Given the description of an element on the screen output the (x, y) to click on. 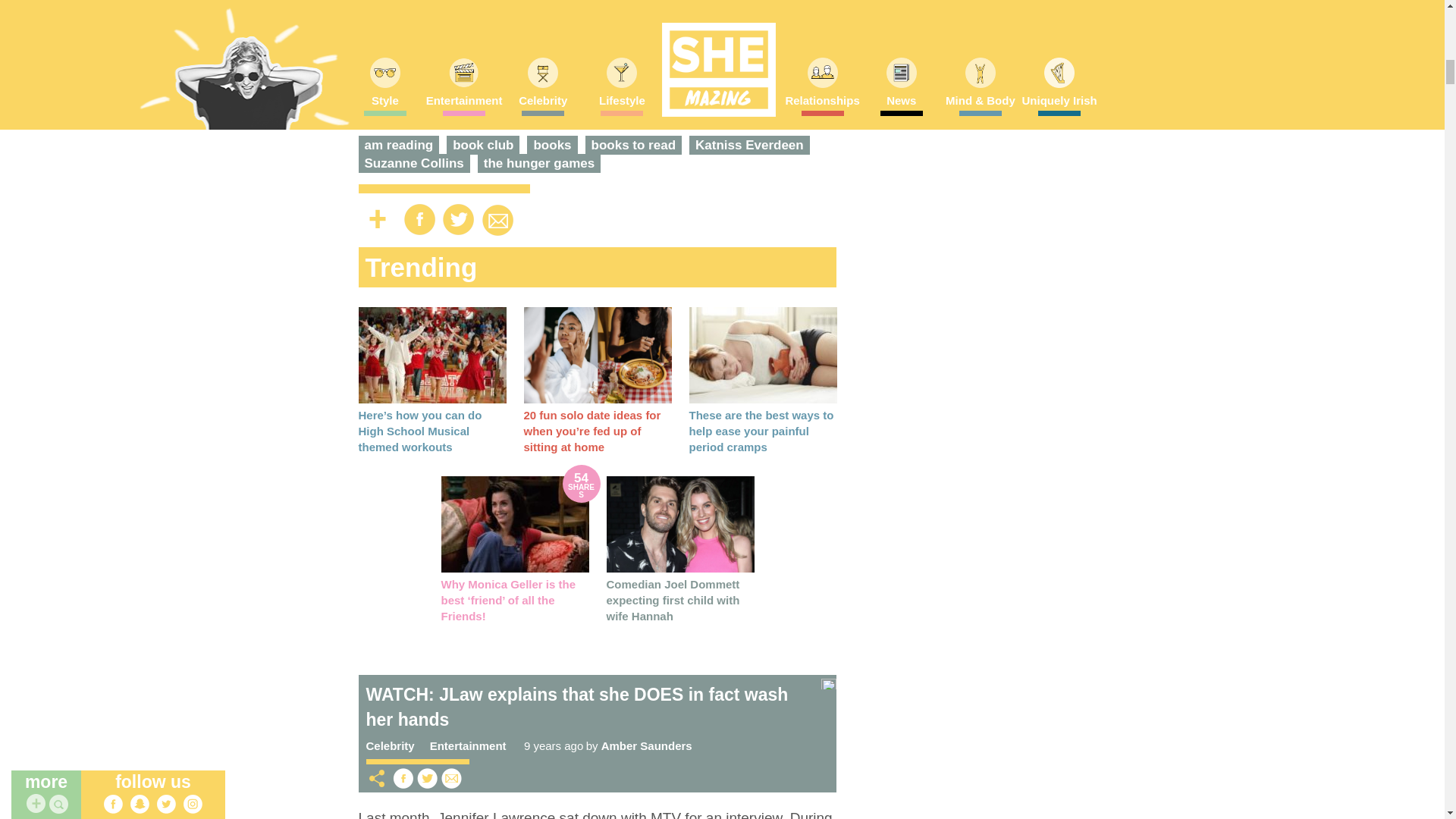
Comedian Joel Dommett expecting first child with wife Hannah (673, 600)
WATCH: JLaw explains that she DOES in fact wash her hands (828, 683)
WATCH: JLaw explains that she DOES in fact wash her hands (576, 706)
Comedian Joel Dommett expecting first child with wife Hannah (680, 523)
